Given the description of an element on the screen output the (x, y) to click on. 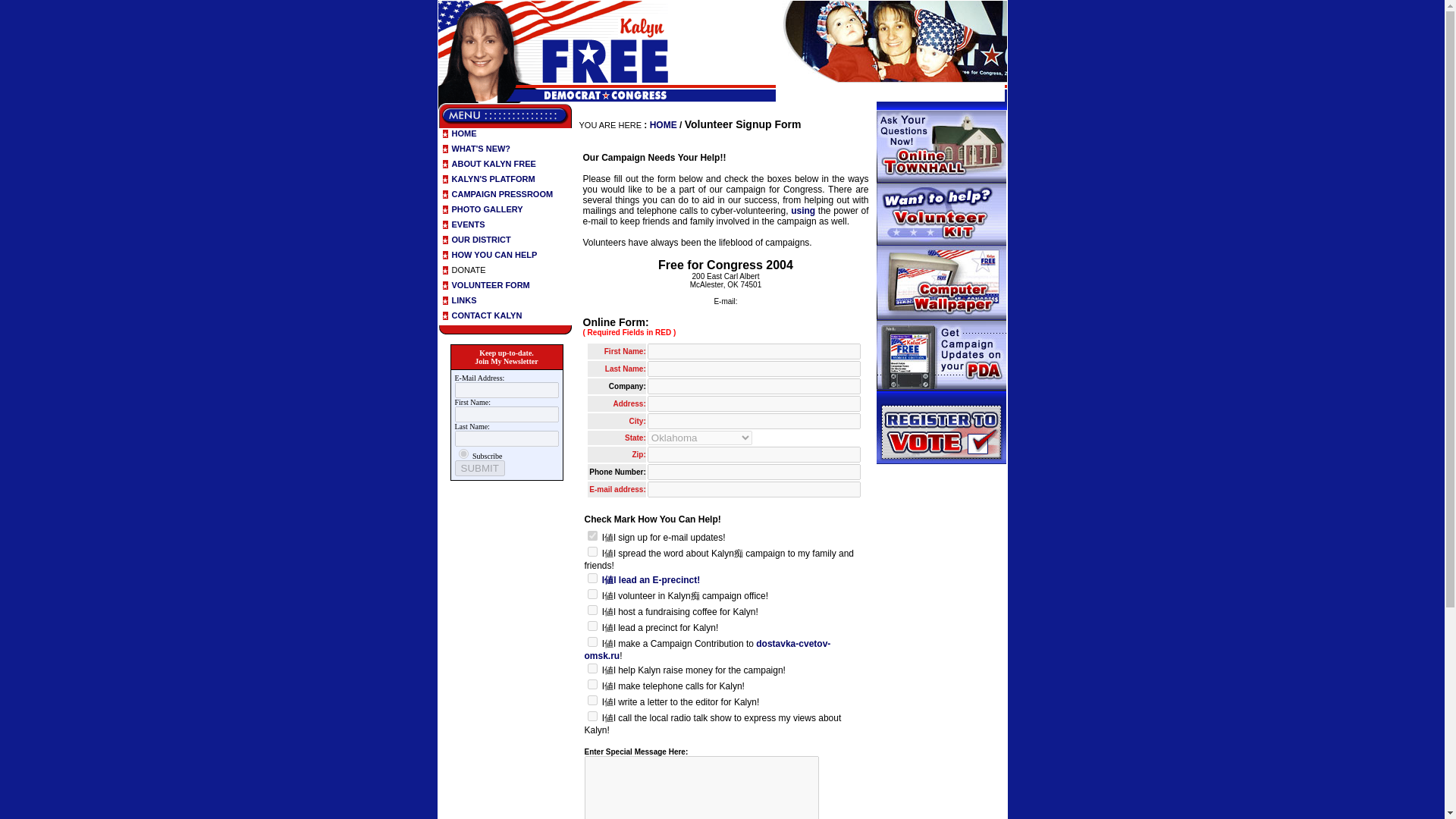
Lead an E-Precinct (591, 578)
SUBMIT (479, 467)
HOME (464, 133)
Do Volunteer Work (591, 593)
CONTRIBUTE (591, 642)
PHOTO GALLERY (486, 208)
WHAT'S NEW? (481, 148)
VOLUNTEER FORM (490, 284)
Be a Precinct Leader (591, 625)
KALYN'S PLATFORM (493, 178)
